Given the description of an element on the screen output the (x, y) to click on. 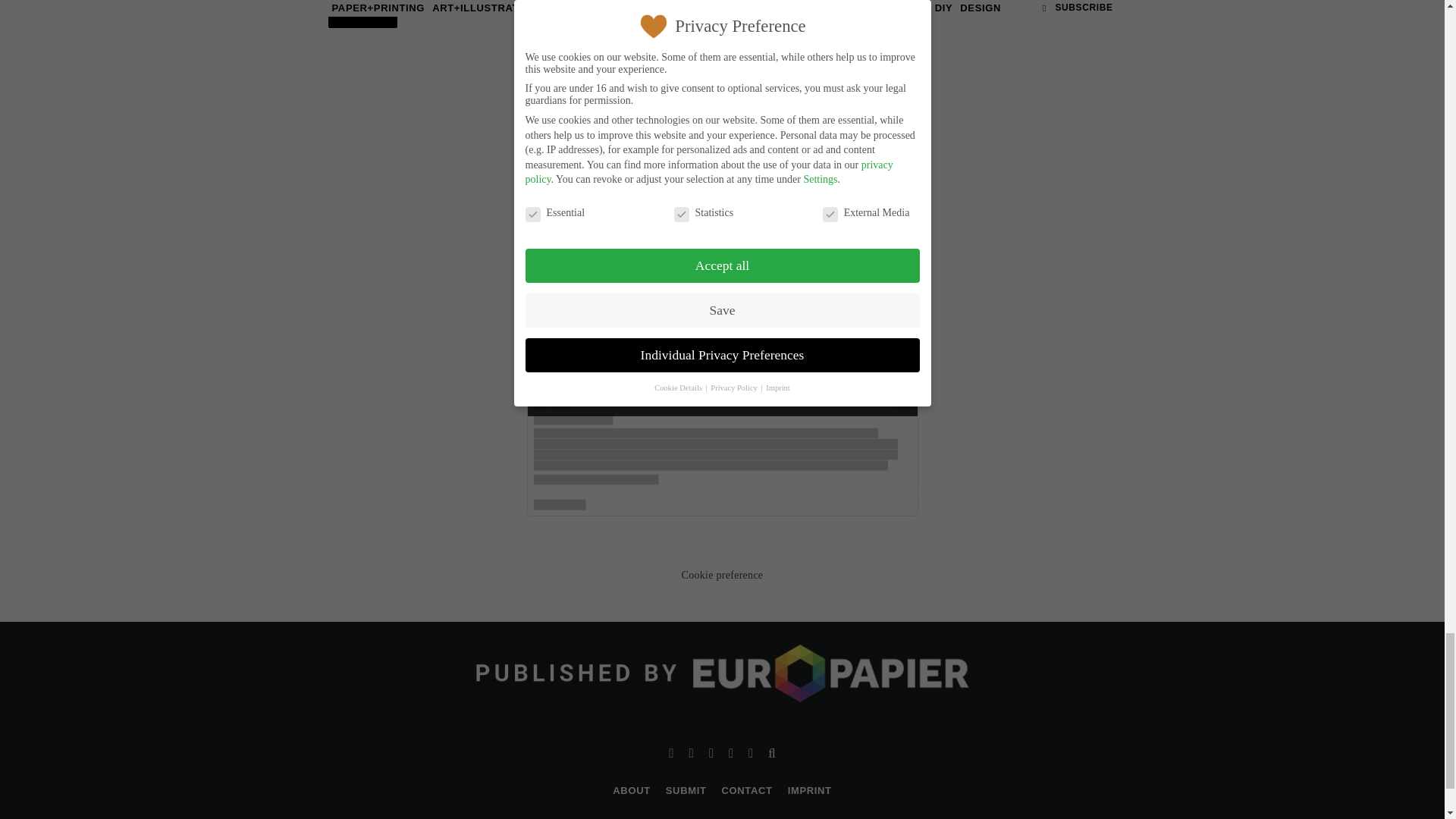
Submit (362, 13)
1 (660, 399)
1 (405, 9)
